Given the description of an element on the screen output the (x, y) to click on. 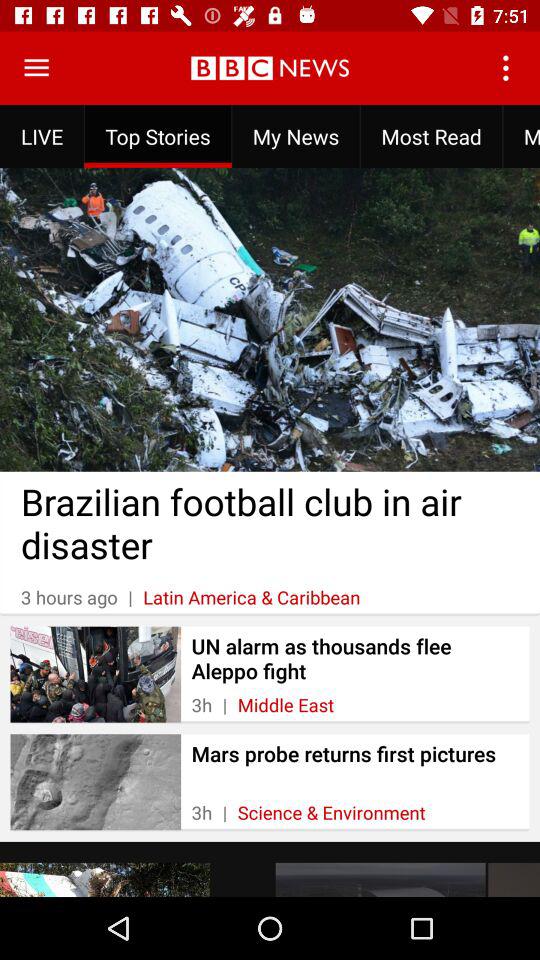
flip to the live item (42, 136)
